Given the description of an element on the screen output the (x, y) to click on. 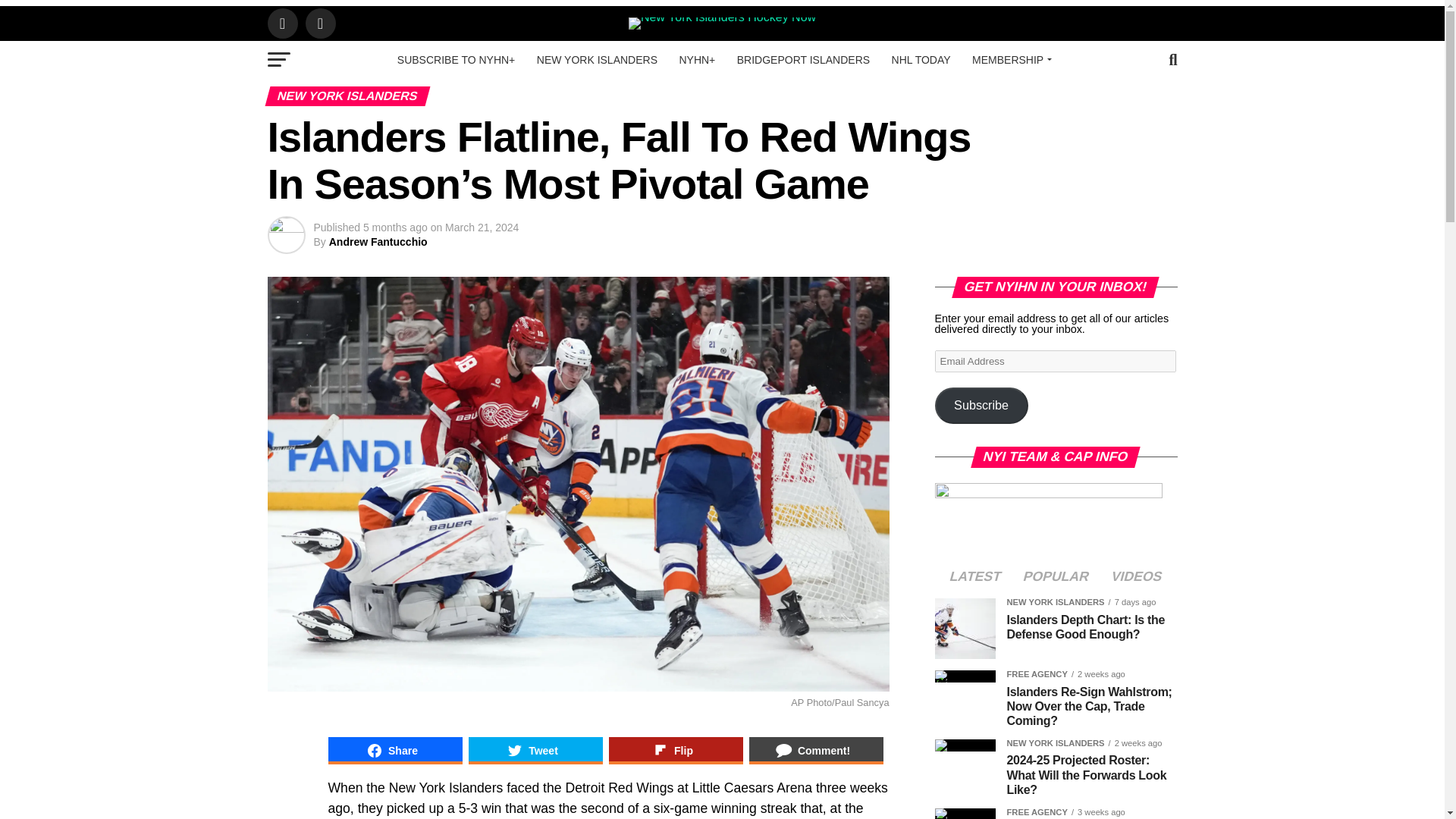
NHL TODAY (920, 59)
Share on Comment! (816, 750)
Share on Share (394, 750)
Share on Flip (675, 750)
NEW YORK ISLANDERS (596, 59)
Share on Tweet (535, 750)
Posts by Andrew Fantucchio (378, 241)
BRIDGEPORT ISLANDERS (803, 59)
